Given the description of an element on the screen output the (x, y) to click on. 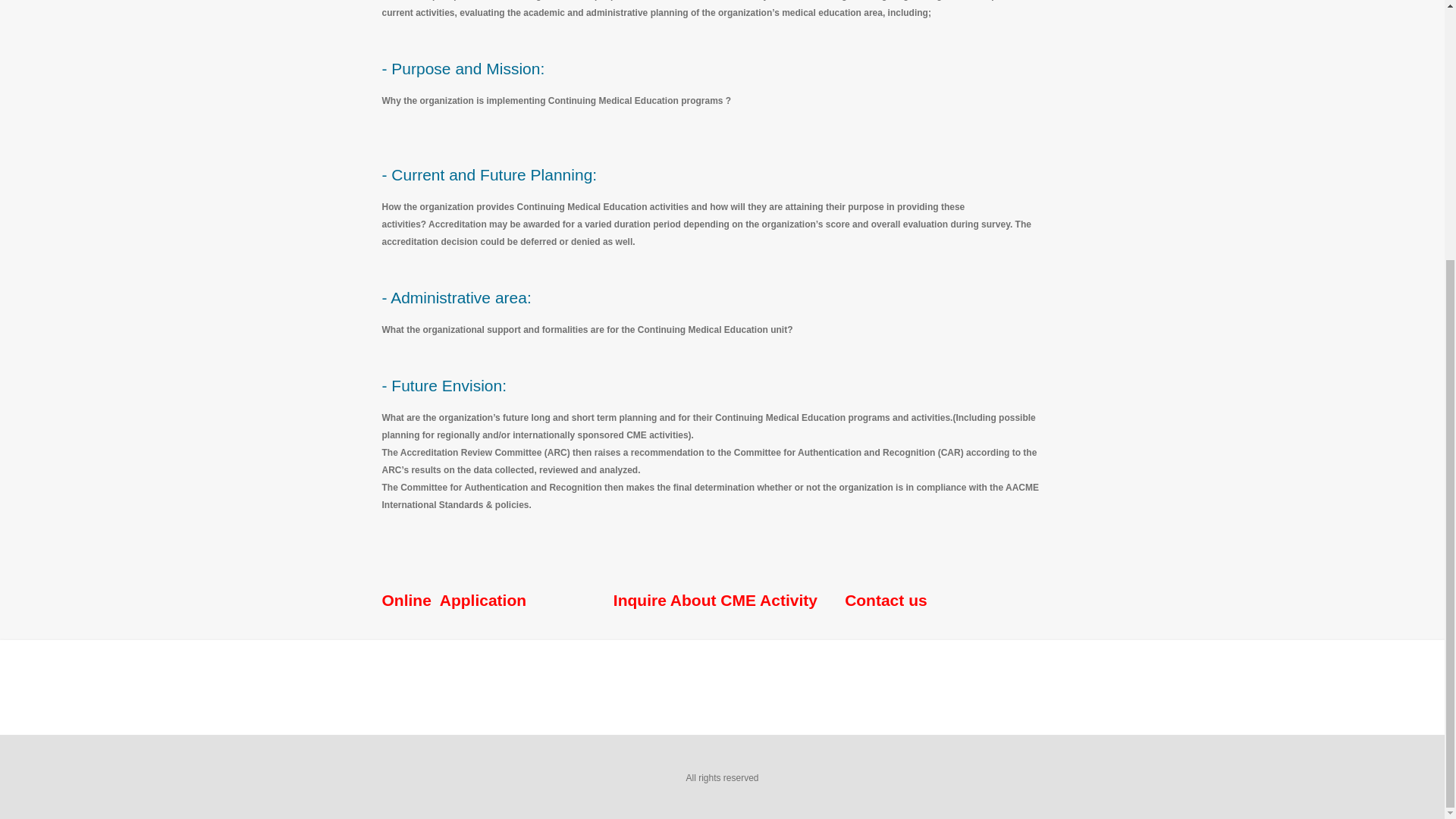
Inquire About CME Activity (714, 600)
Online  Application (454, 600)
Contact us (885, 600)
